Given the description of an element on the screen output the (x, y) to click on. 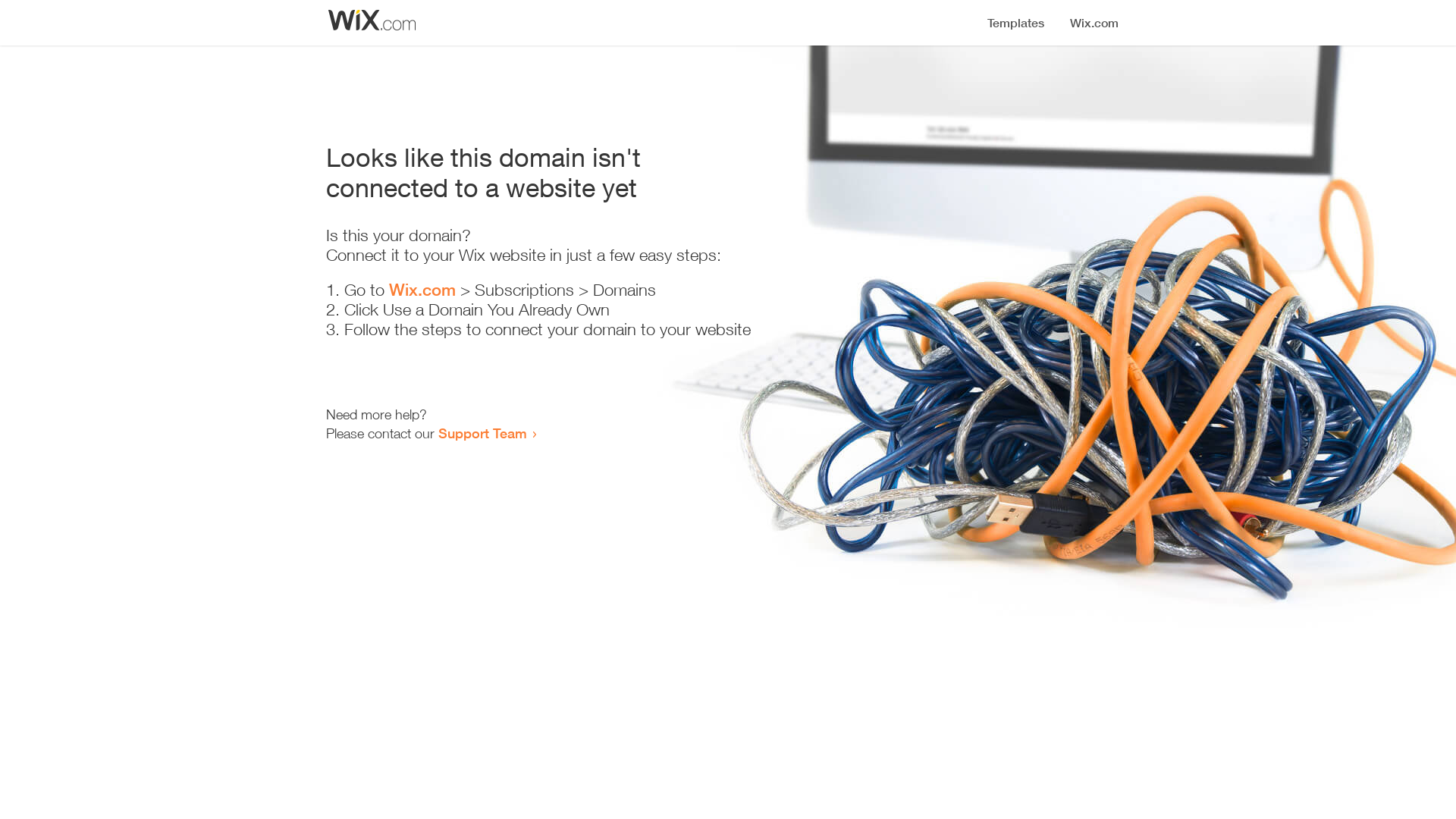
Wix.com Element type: text (422, 289)
Support Team Element type: text (482, 432)
